Given the description of an element on the screen output the (x, y) to click on. 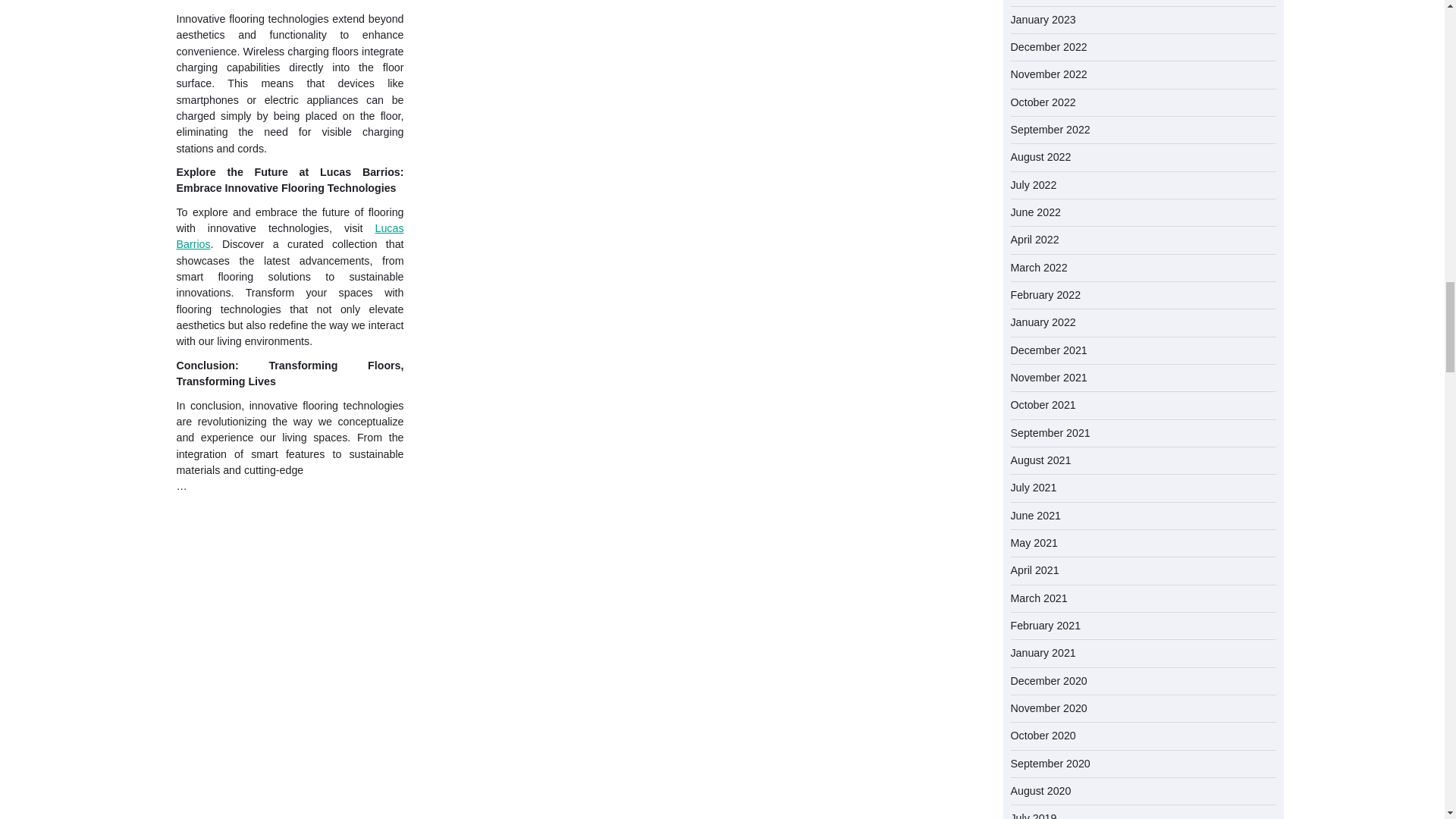
Lucas Barrios (289, 235)
